Given the description of an element on the screen output the (x, y) to click on. 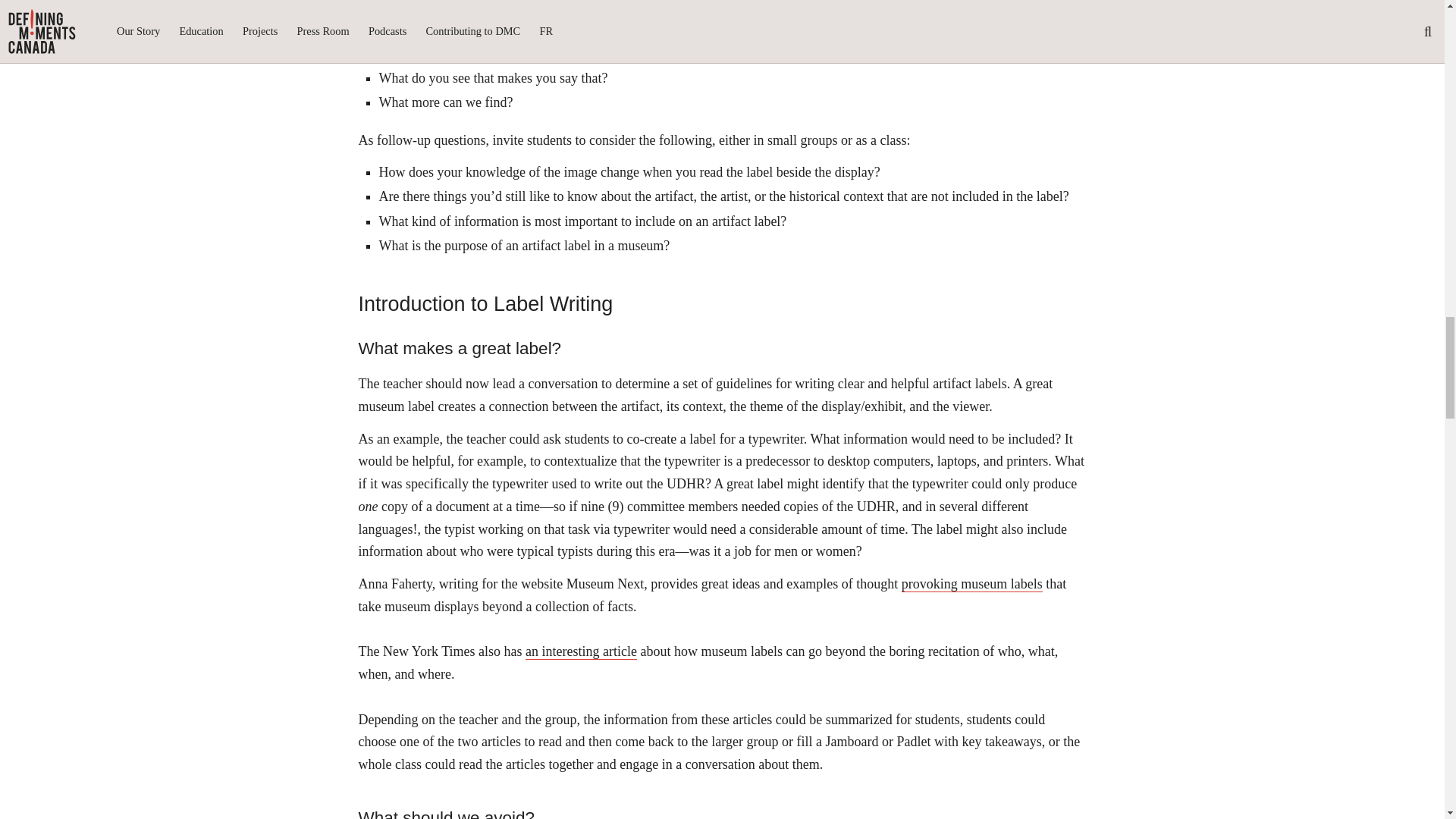
provoking museum labels (971, 584)
an interesting article (581, 651)
associated with visual thinking strategies (525, 21)
